Given the description of an element on the screen output the (x, y) to click on. 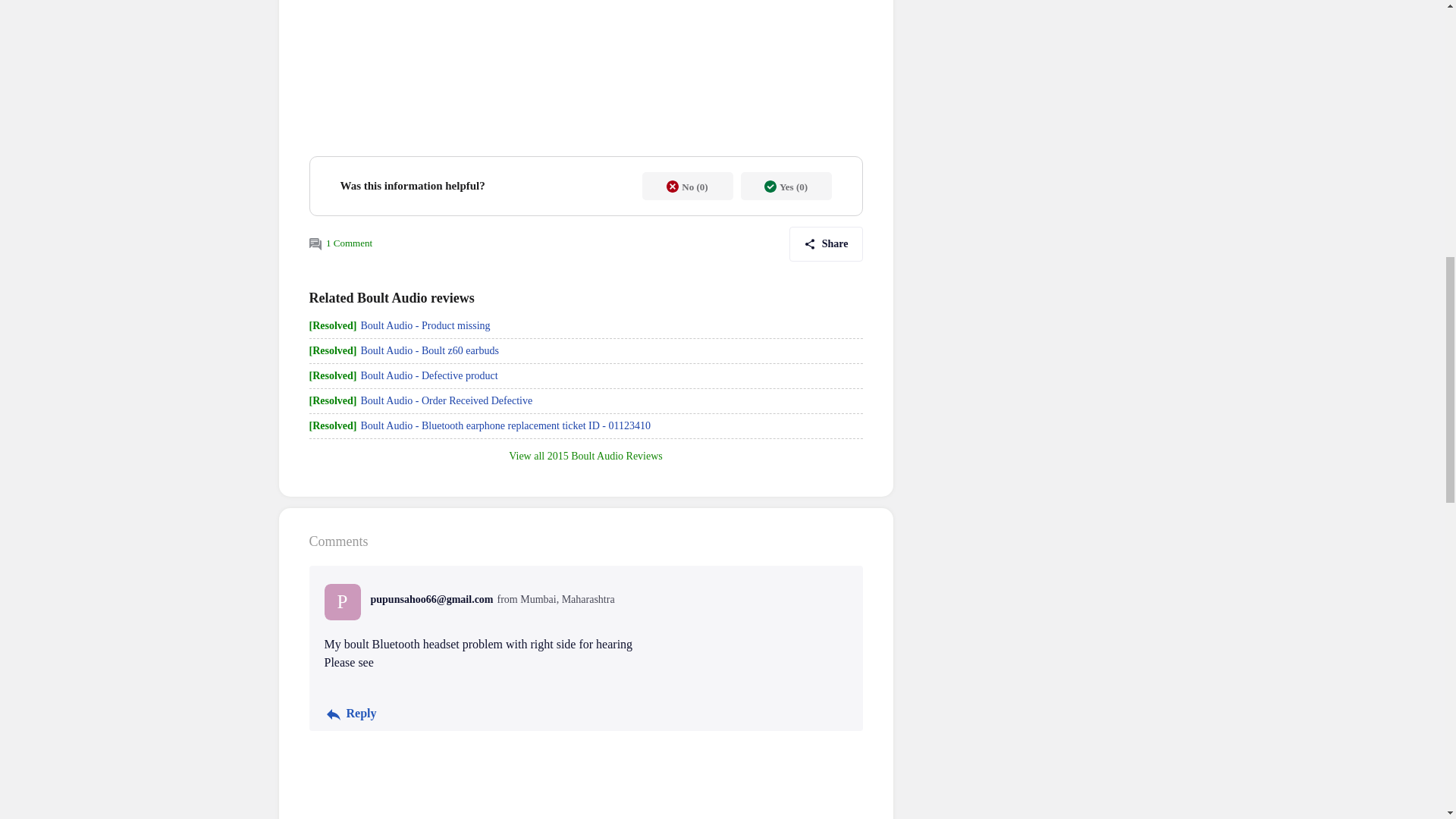
Reply (350, 714)
Complaint comments (314, 244)
2015 Boult Audio Reviews (604, 455)
